Given the description of an element on the screen output the (x, y) to click on. 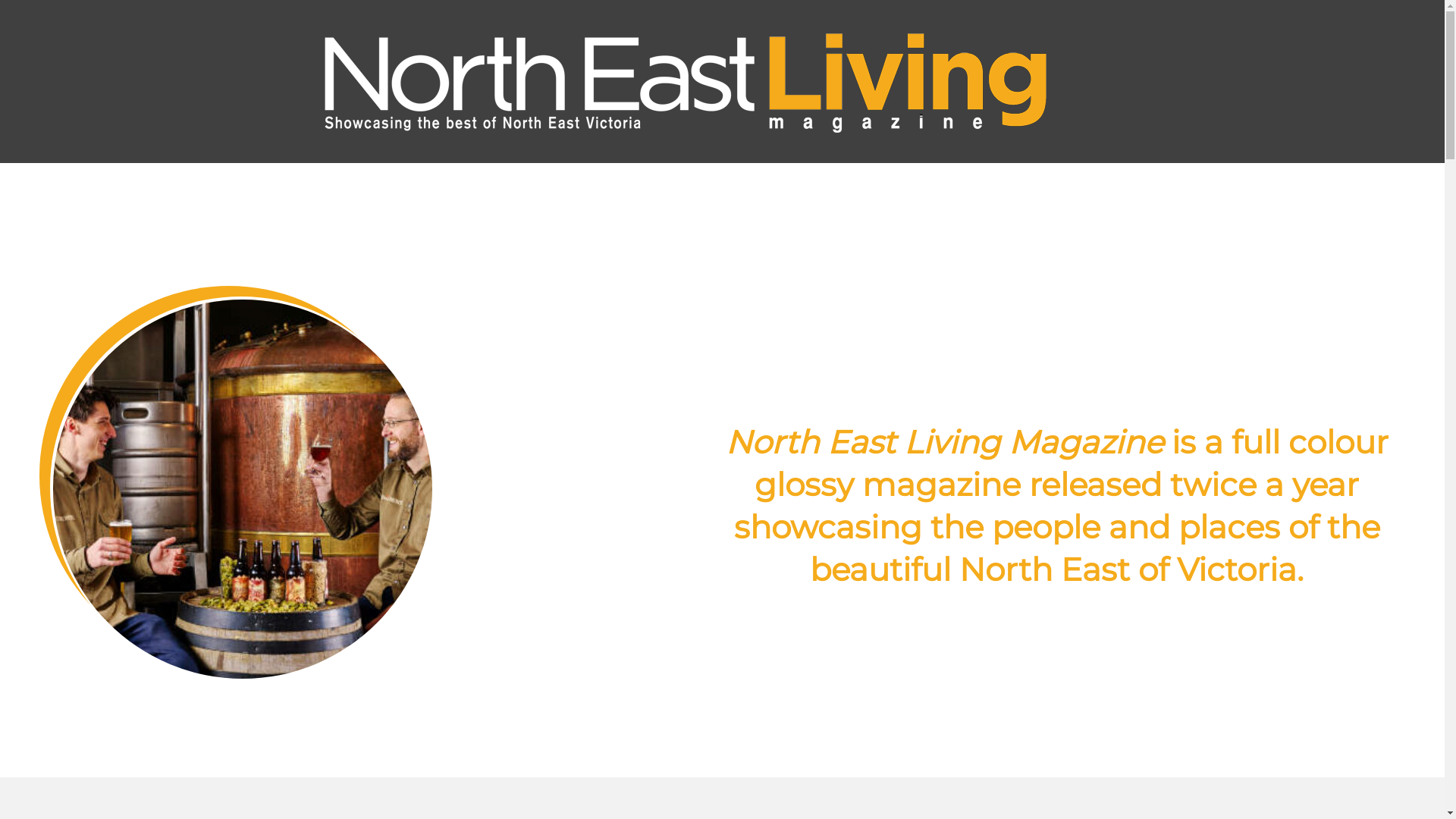
Intro Element type: hover (242, 307)
North-East-Living-logo Element type: hover (684, 81)
